Given the description of an element on the screen output the (x, y) to click on. 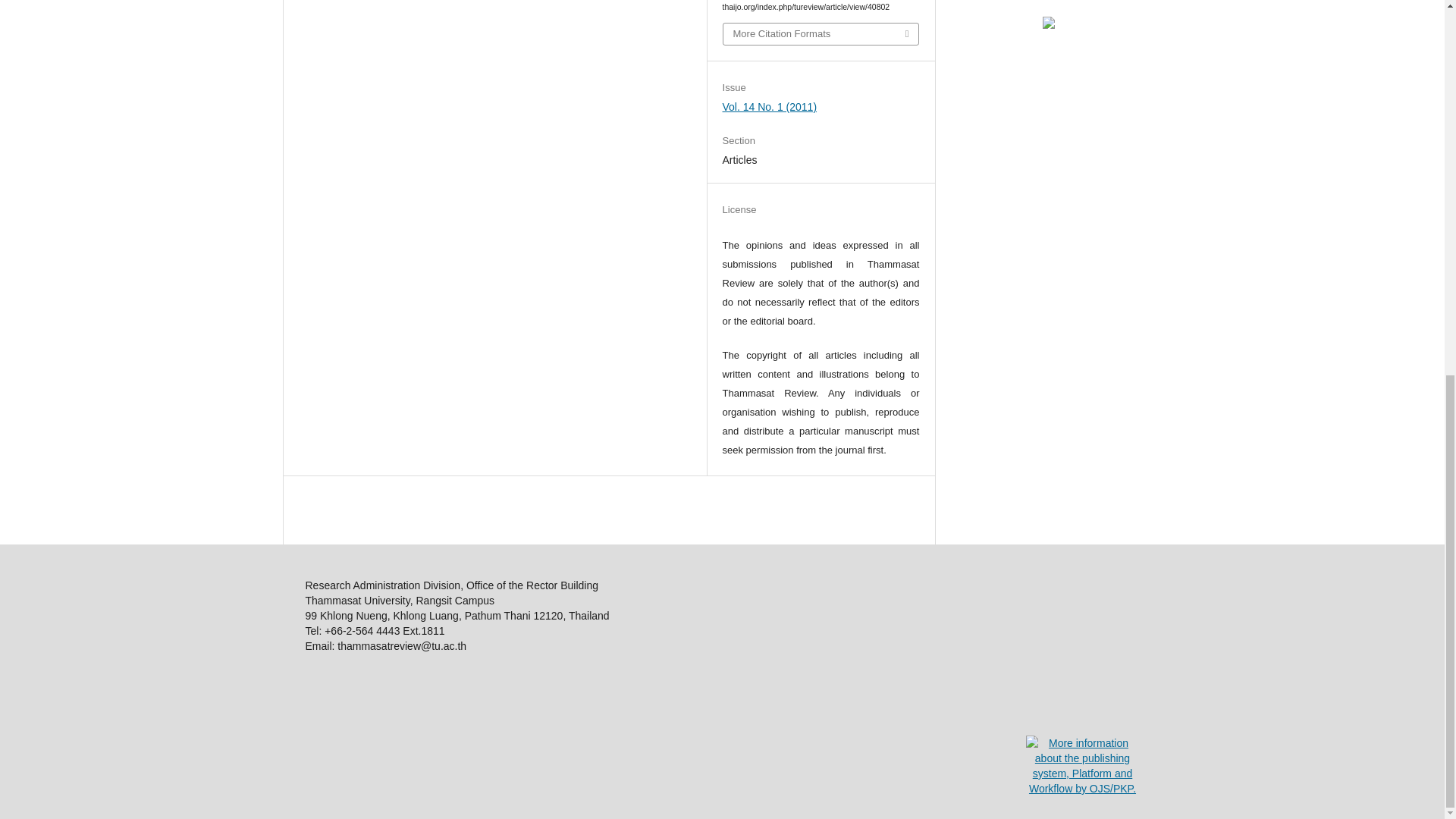
GS (1048, 24)
More Citation Formats (820, 34)
